Given the description of an element on the screen output the (x, y) to click on. 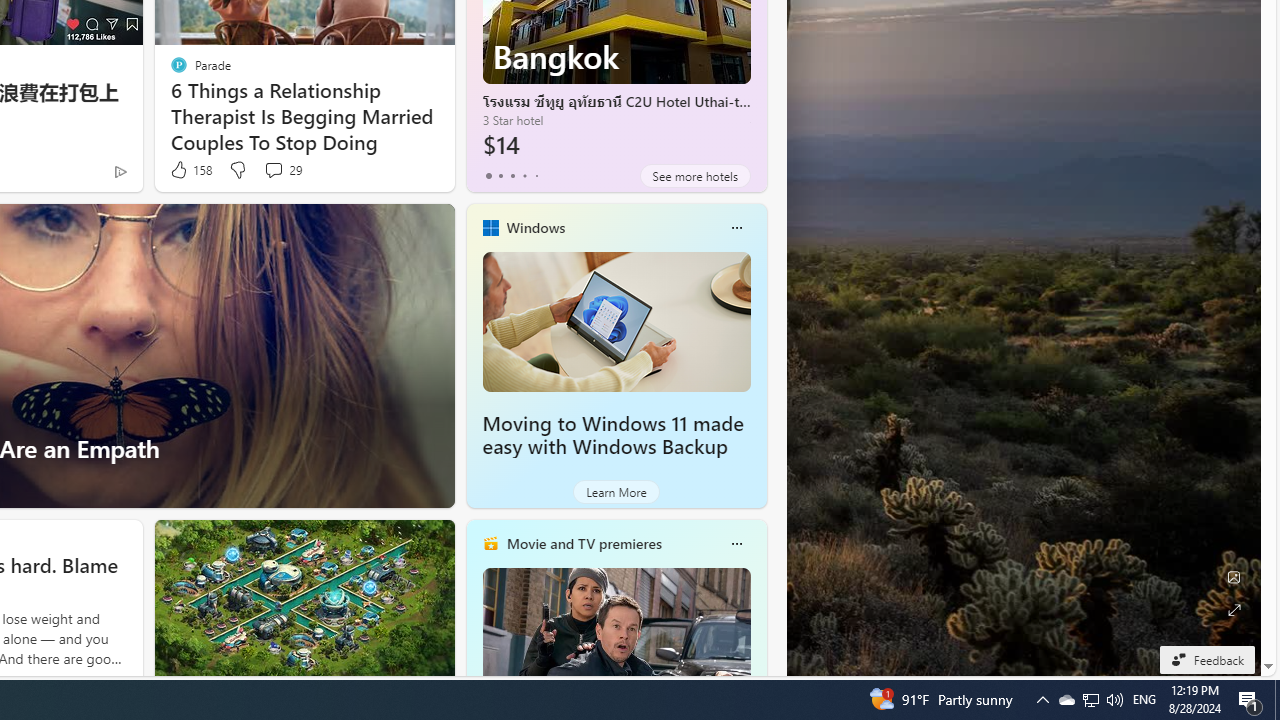
tab-1 (500, 175)
More options (736, 543)
Moving to Windows 11 made easy with Windows Backup (612, 435)
Learn More (616, 491)
Expand background (1233, 610)
View comments 29 Comment (273, 169)
Class: icon-img (736, 543)
Feedback (1206, 659)
tab-4 (535, 175)
View comments 29 Comment (281, 170)
Ad Choice (119, 171)
Moving to Windows 11 made easy with Windows Backup (616, 321)
Dislike (237, 170)
Movie and TV premieres (583, 543)
